Given the description of an element on the screen output the (x, y) to click on. 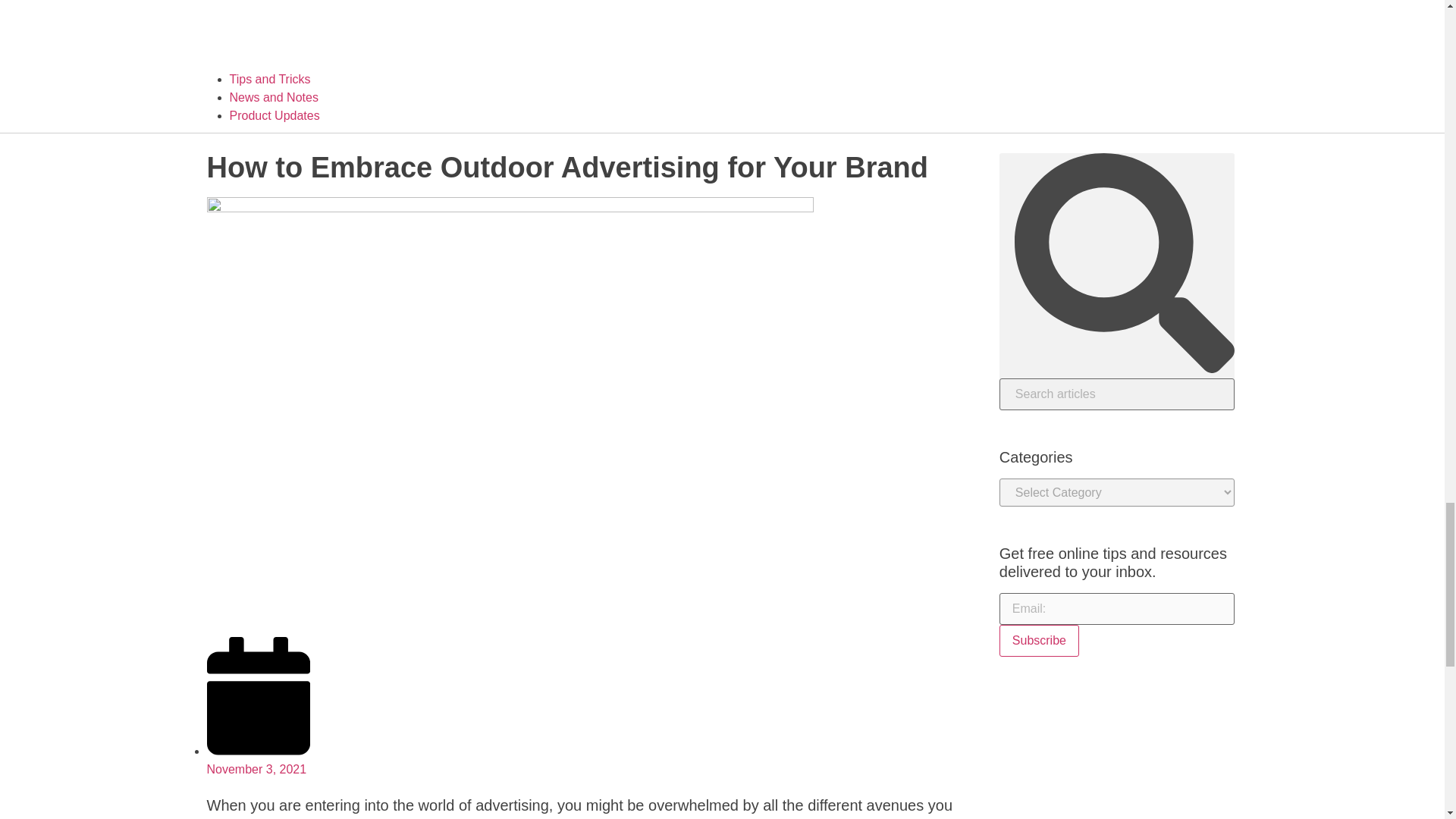
News and Notes (272, 97)
November 3, 2021 (257, 759)
Product Updates (273, 115)
Tips and Tricks (269, 78)
Subscribe (1038, 640)
Subscribe (1038, 640)
